Given the description of an element on the screen output the (x, y) to click on. 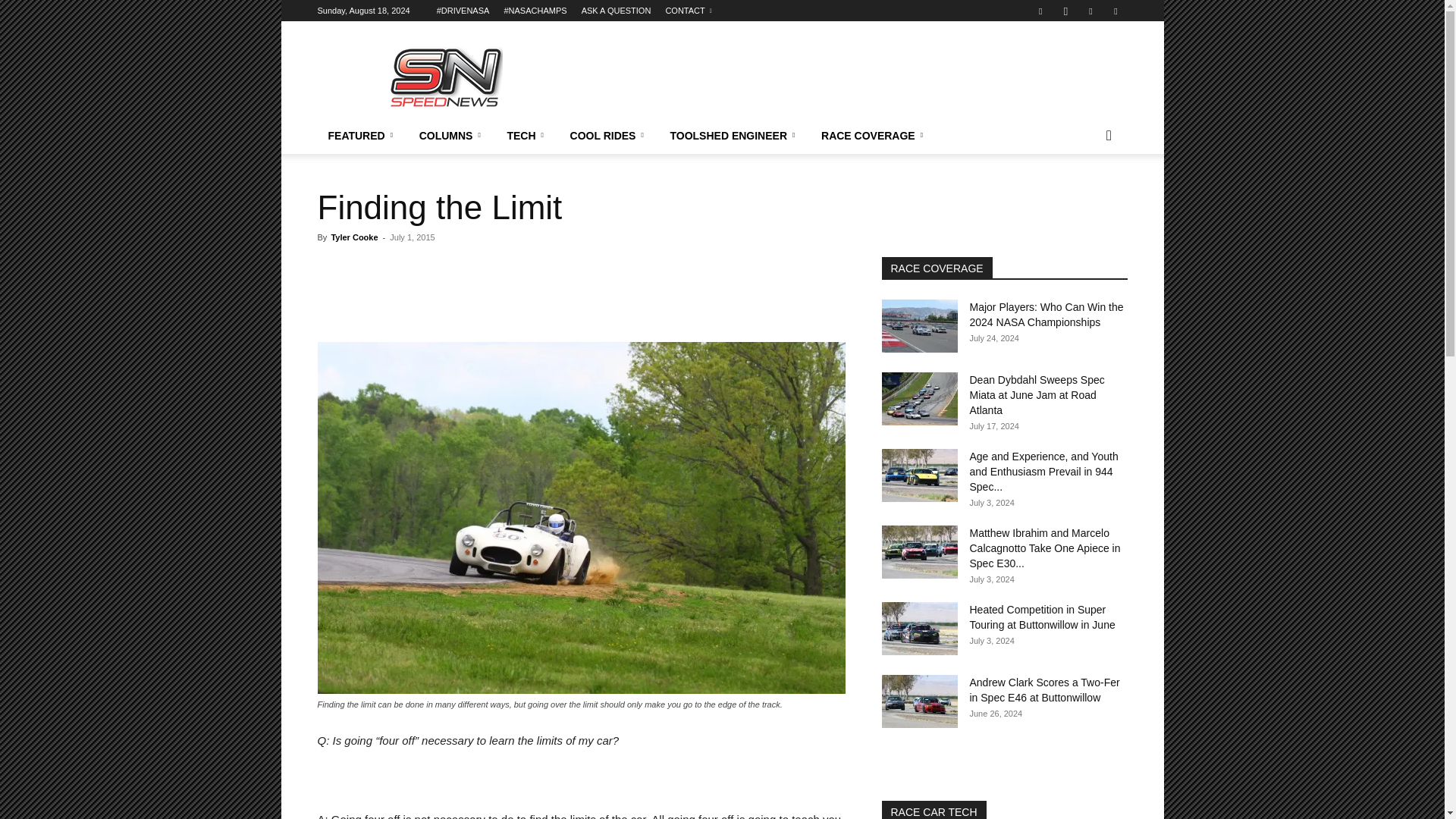
Facebook (1040, 10)
The Official Magazine of the National Auto Sport Association (445, 76)
Instagram (1065, 10)
Twitter (1090, 10)
ASK A QUESTION (615, 10)
Youtube (1114, 10)
CONTACT (688, 10)
